Given the description of an element on the screen output the (x, y) to click on. 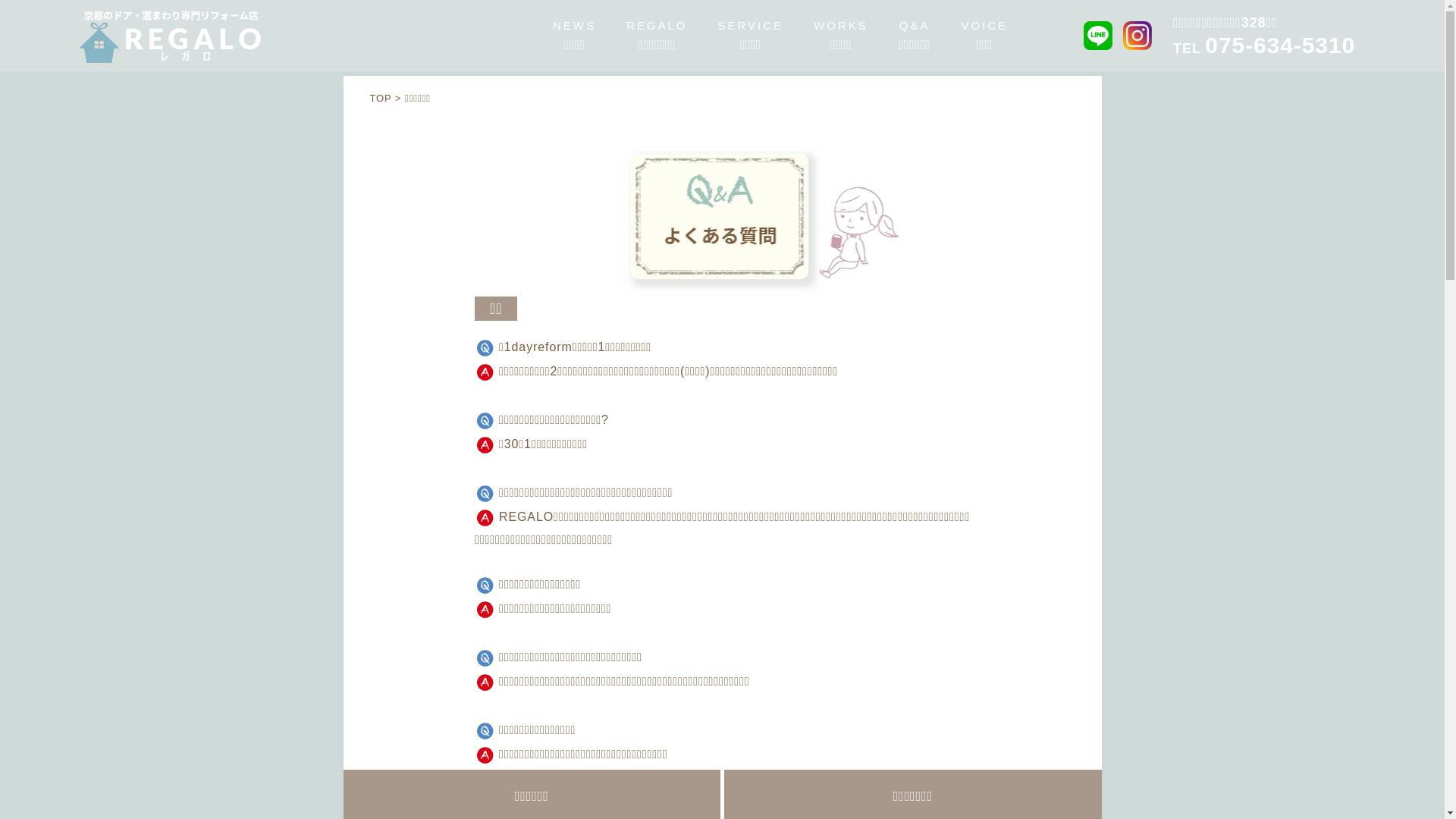
TOP Element type: text (381, 97)
TEL 075-634-5310 Element type: text (1264, 48)
